Given the description of an element on the screen output the (x, y) to click on. 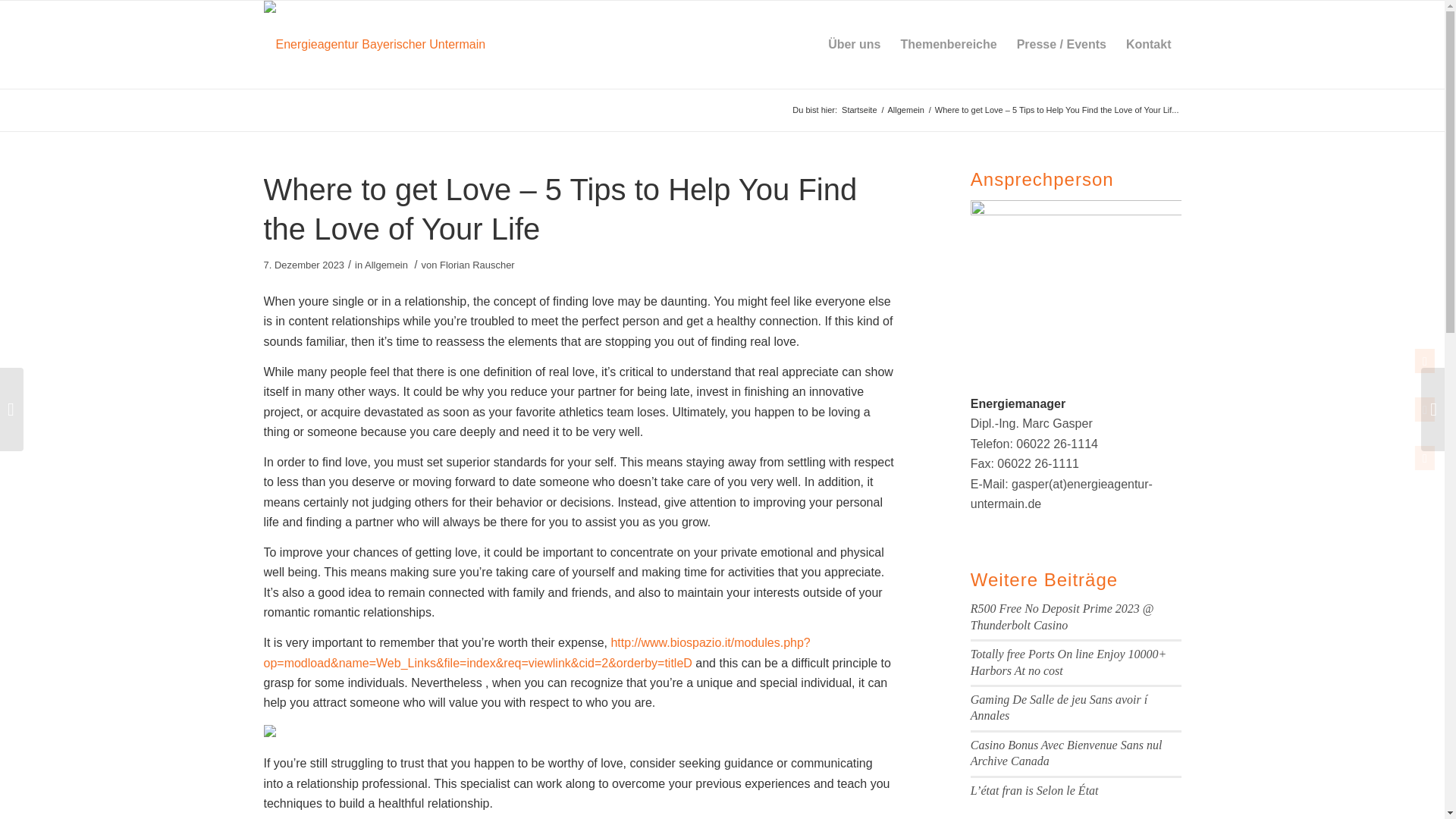
Casino Bonus Avec Bienvenue Sans nul Archive Canada (1066, 752)
Allgemein (386, 265)
Themenbereiche (947, 44)
Allgemein (905, 110)
Florian Rauscher (477, 265)
Startseite (859, 110)
Energieagentur Bayerischer Untermain (859, 110)
